Given the description of an element on the screen output the (x, y) to click on. 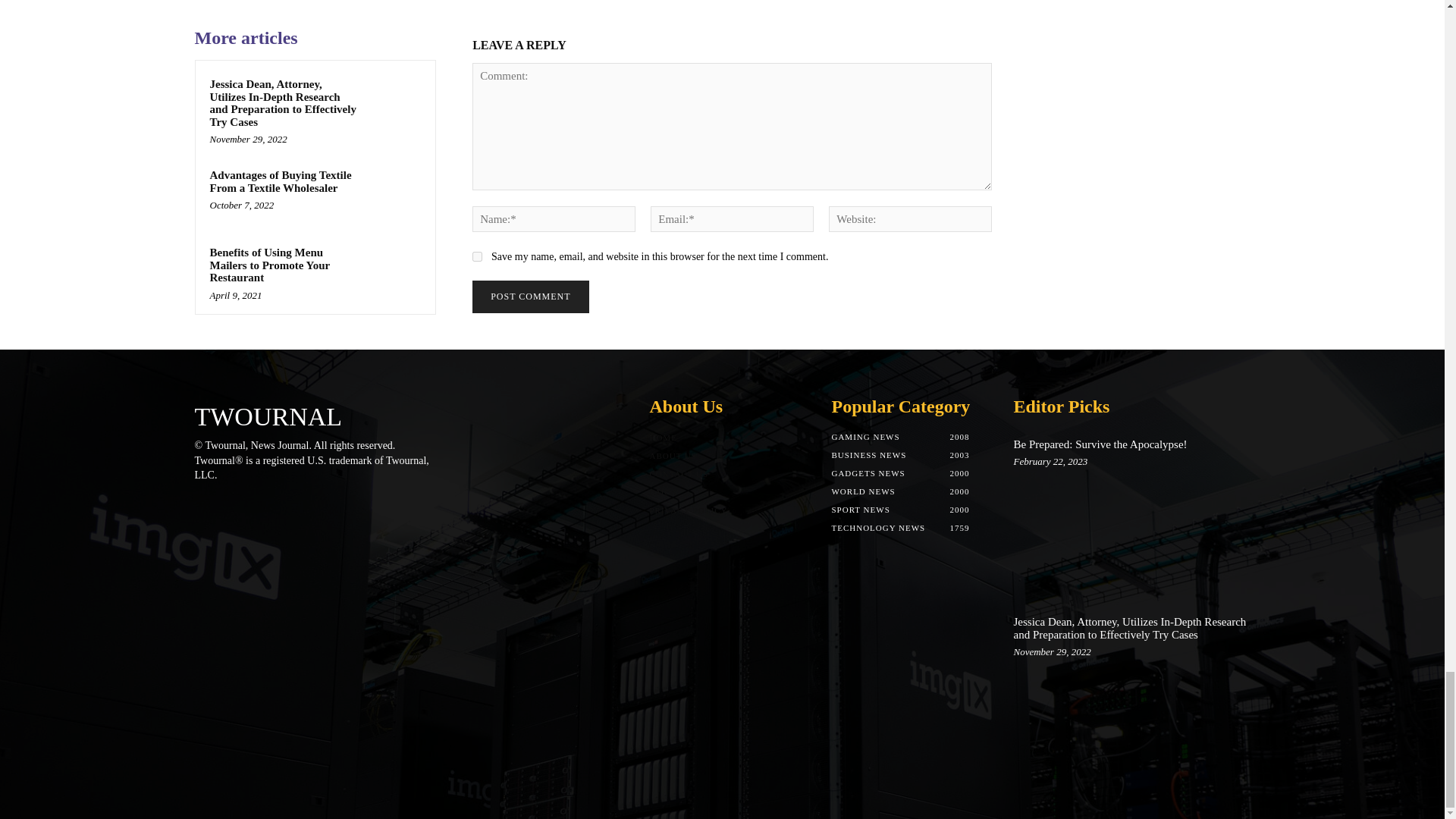
Post Comment (529, 296)
yes (476, 256)
